Given the description of an element on the screen output the (x, y) to click on. 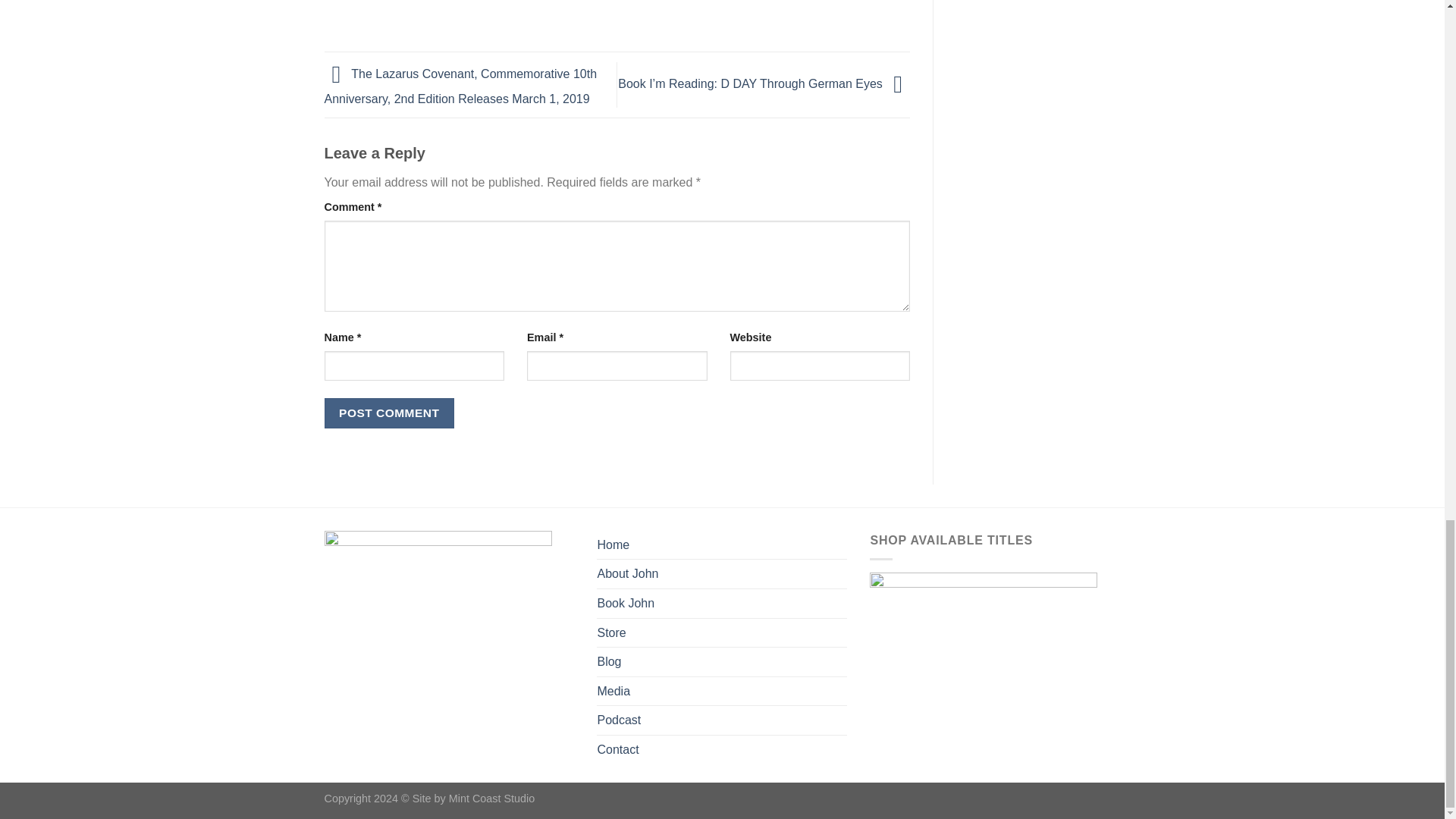
Post Comment (389, 412)
